Given the description of an element on the screen output the (x, y) to click on. 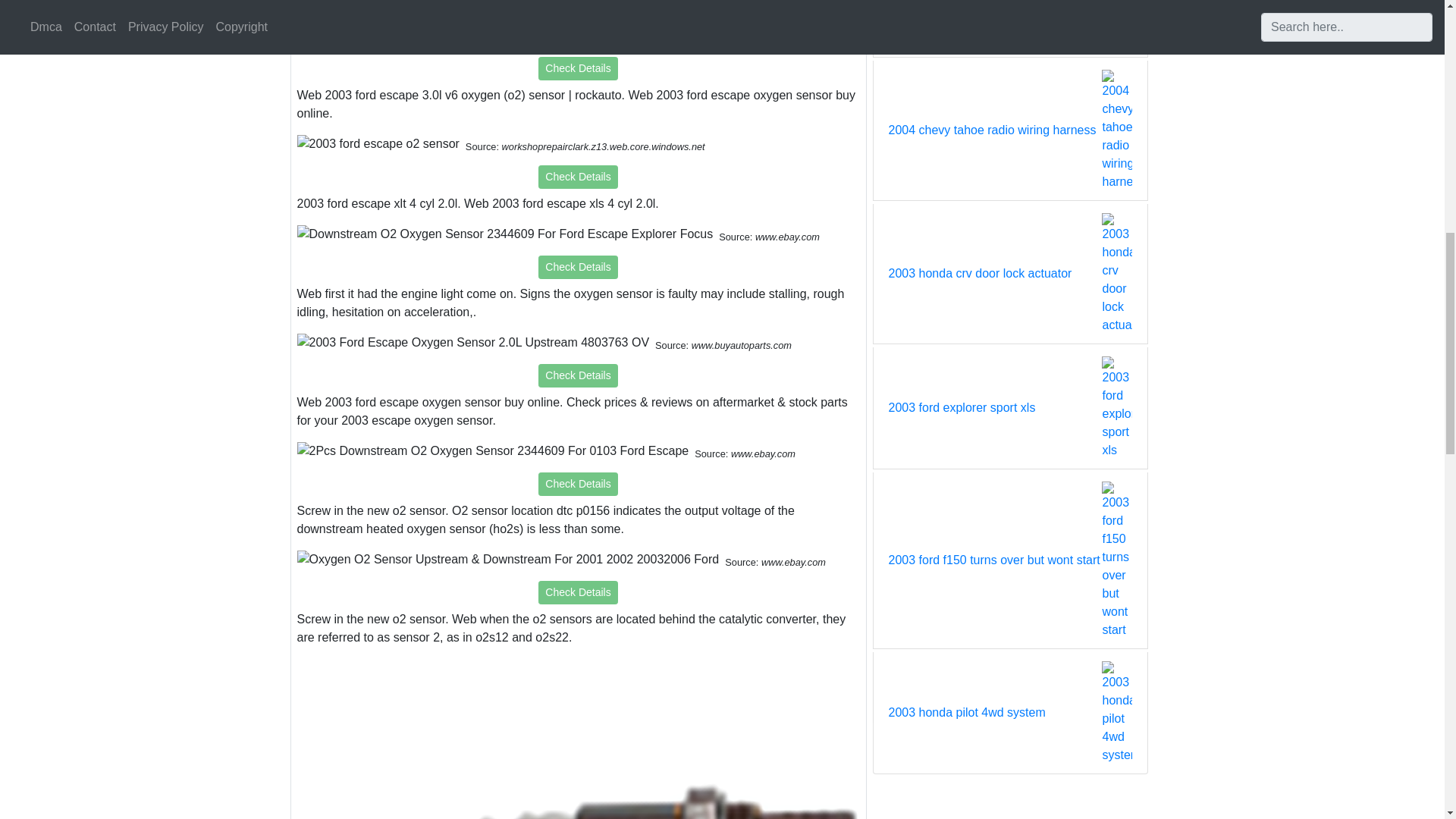
Check Details (577, 592)
2004 chevy tahoe radio wiring harness (992, 130)
Check Details (577, 68)
Check Details (577, 484)
2003 honda pilot 4wd system (966, 712)
2003 honda crv door lock actuator (979, 273)
Check Details (577, 177)
2003 ford explorer sport xls (961, 407)
2003 ford f150 turns over but wont start (994, 560)
Check Details (577, 267)
